Given the description of an element on the screen output the (x, y) to click on. 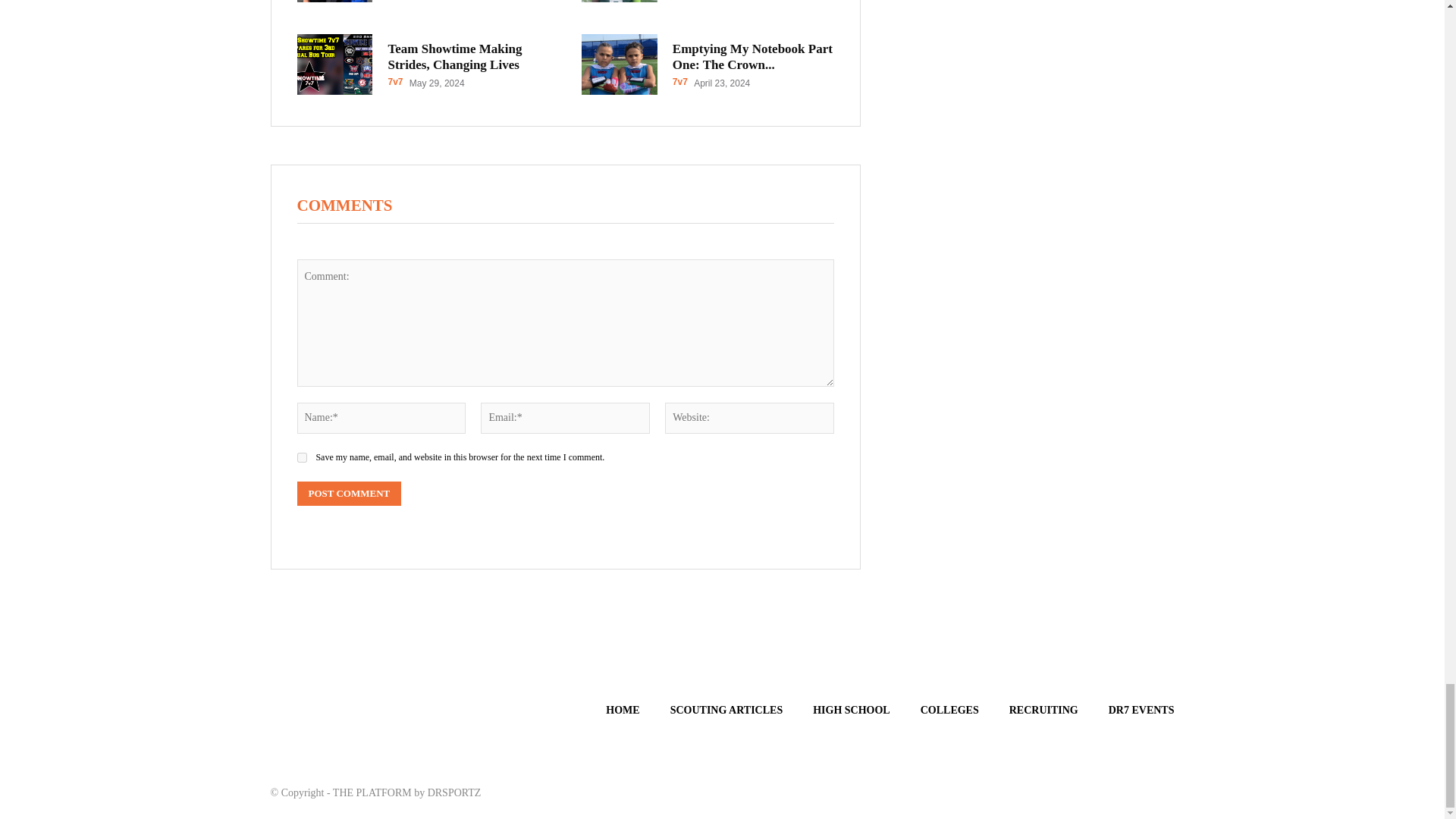
Post Comment (349, 493)
yes (302, 457)
